Given the description of an element on the screen output the (x, y) to click on. 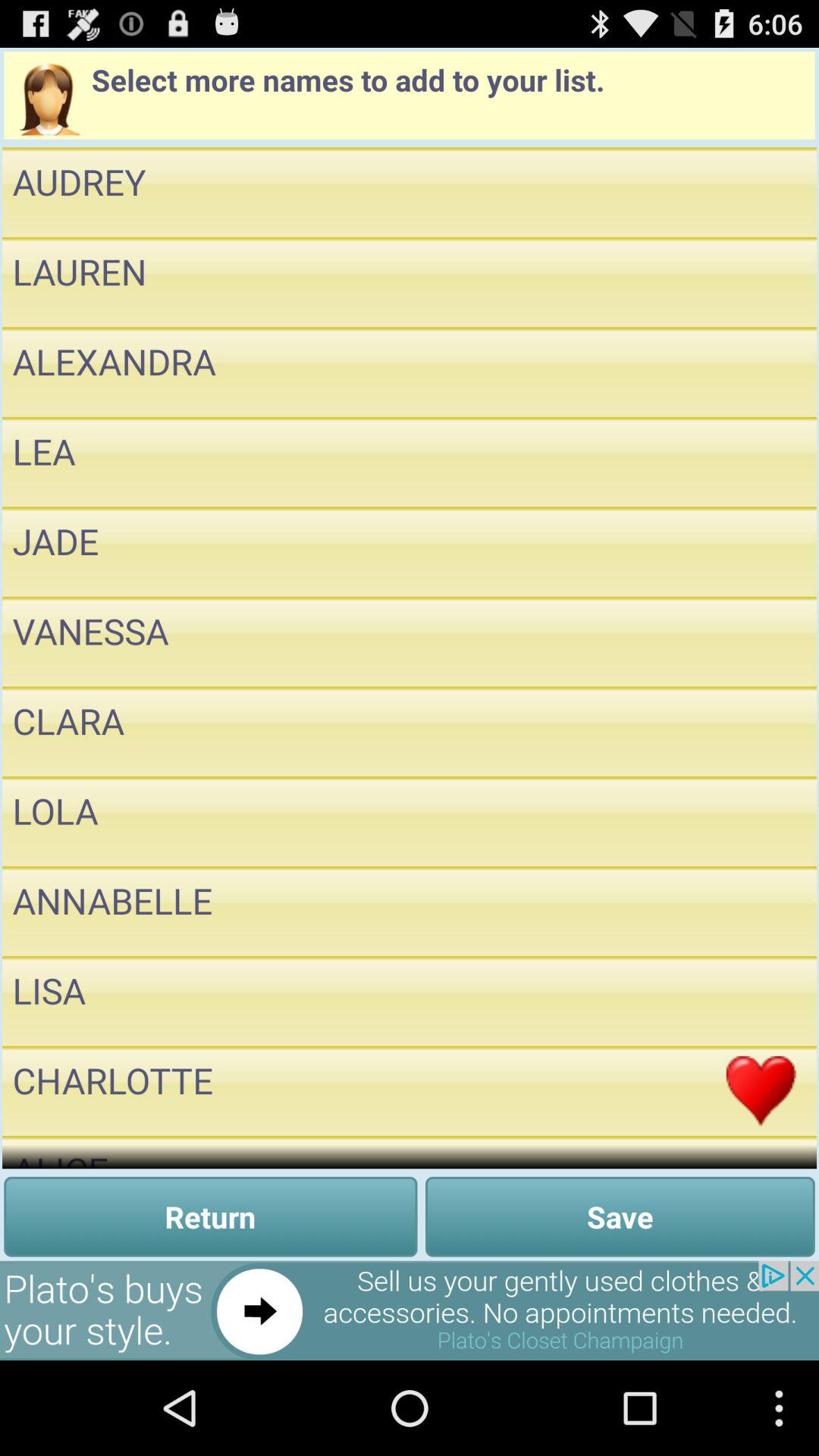
like (761, 821)
